Given the description of an element on the screen output the (x, y) to click on. 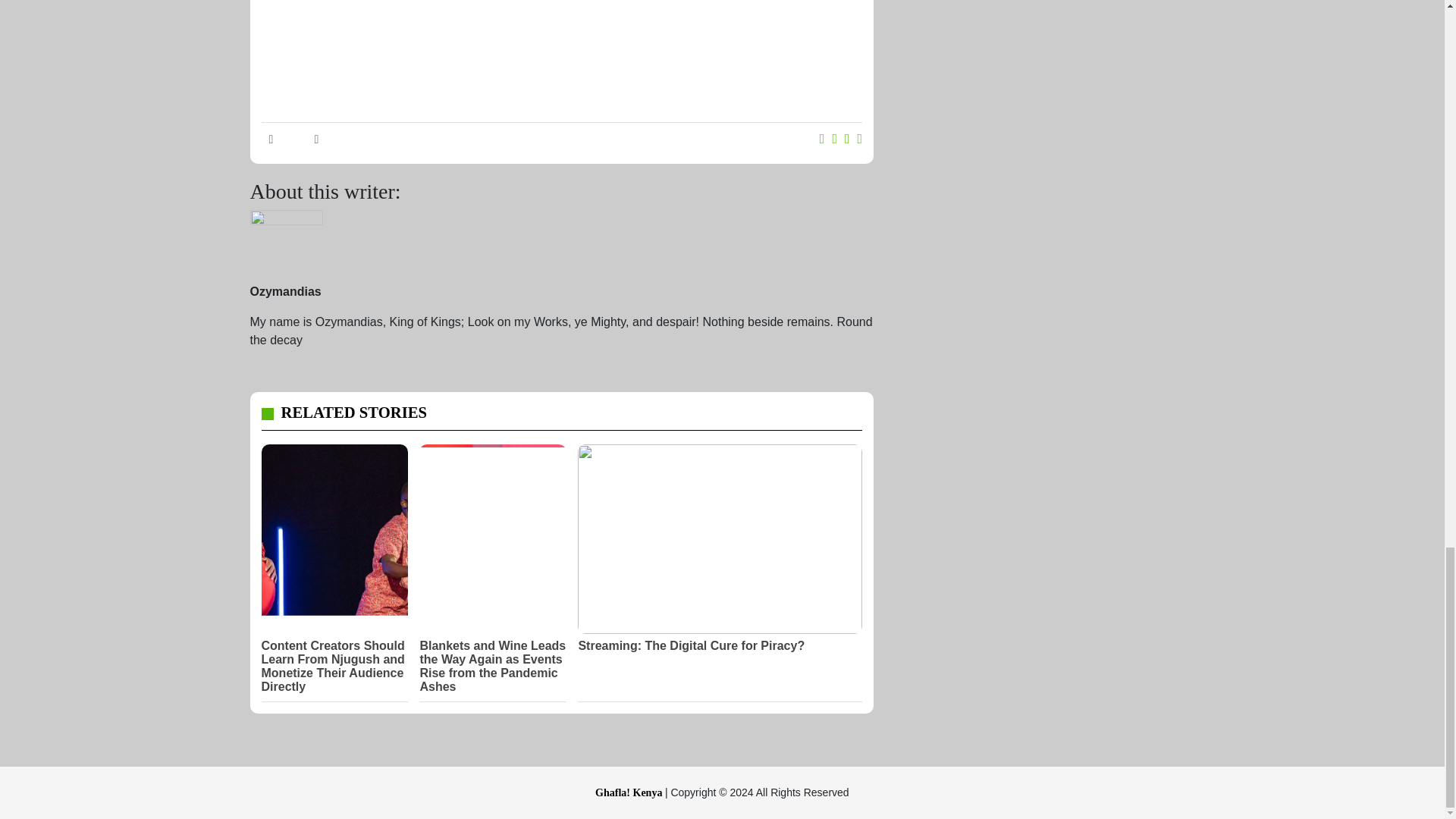
Streaming: The Digital Cure for Piracy? (719, 645)
Ghafla! Kenya (630, 792)
